Given the description of an element on the screen output the (x, y) to click on. 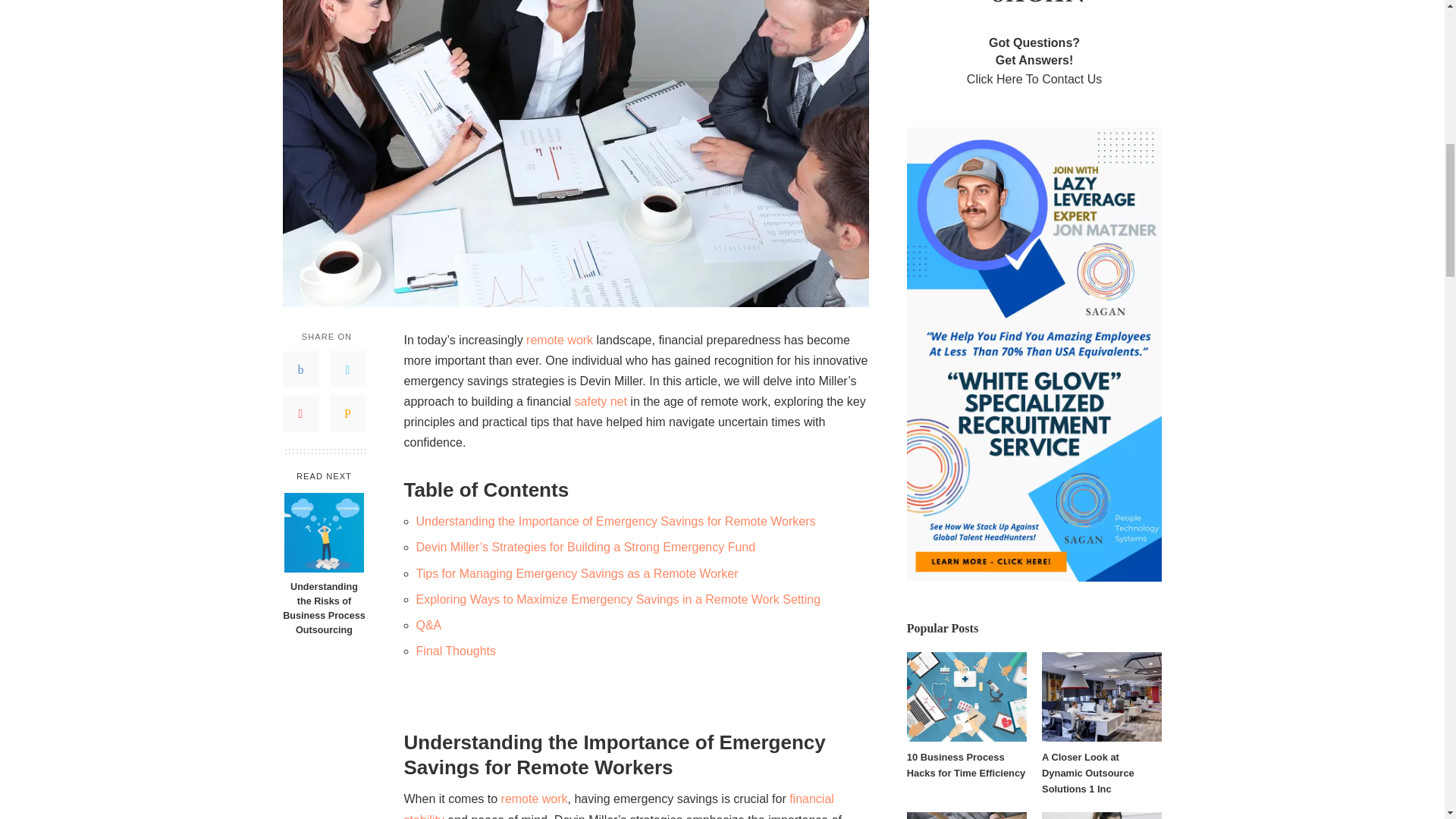
Facebook (300, 369)
Guide to Onboarding Remote Team (533, 798)
safety net (601, 400)
Exploring the Value of Outsourcing: Unveiling Its Worth (617, 805)
Twitter (347, 369)
remote work (558, 339)
financial stability (617, 805)
Understanding the Risks of Business Process Outsourcing (323, 608)
Understanding the Mechanics of Outsourcing Firms (558, 339)
